Given the description of an element on the screen output the (x, y) to click on. 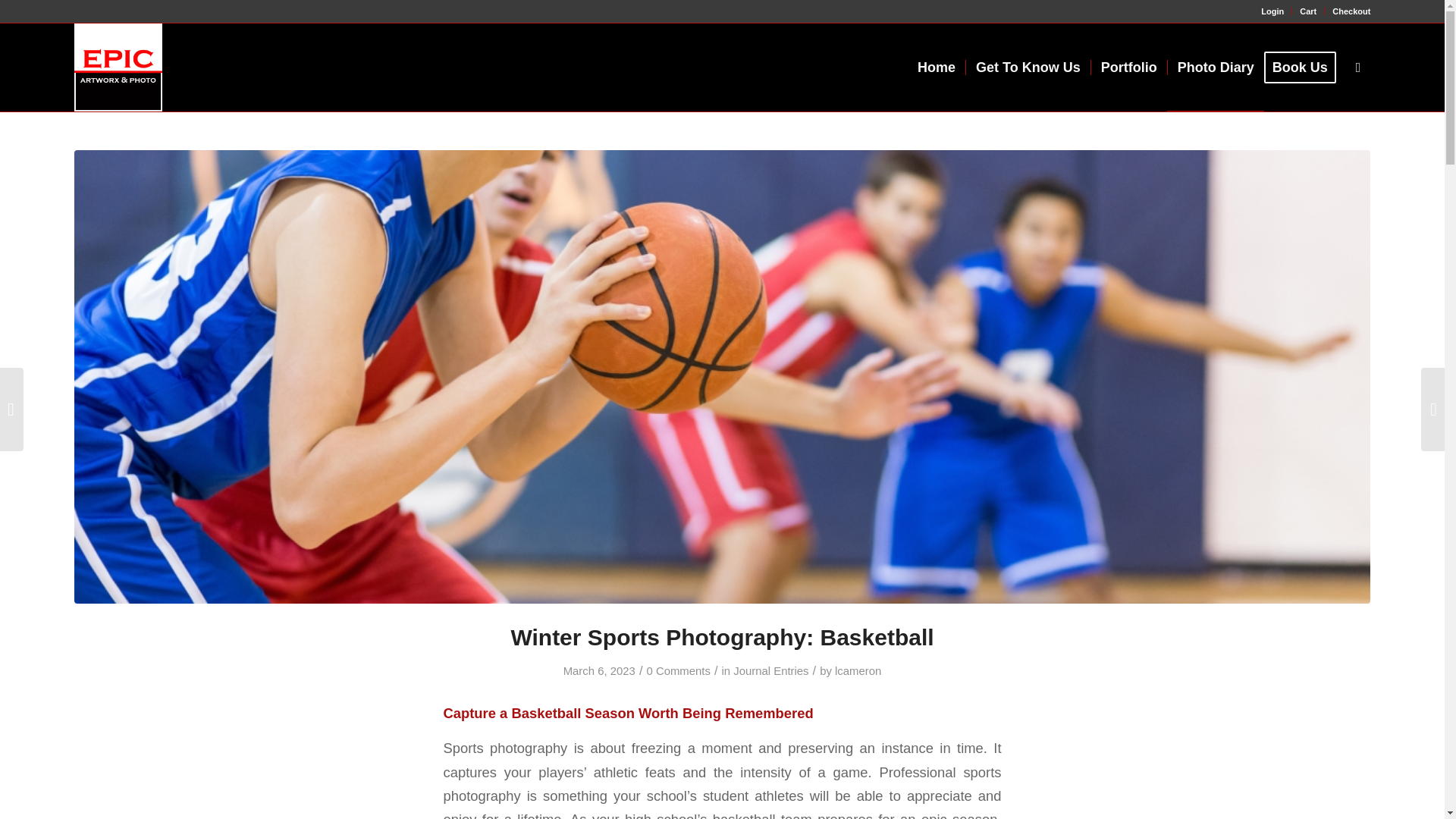
0 Comments (678, 671)
lcameron (857, 671)
epic-artwork-logo-200 (117, 67)
Checkout (1351, 11)
Login (1272, 11)
Posts by lcameron (857, 671)
Get To Know Us (1027, 67)
Journal Entries (770, 671)
Book Us (1304, 67)
Photo Diary (1215, 67)
